Given the description of an element on the screen output the (x, y) to click on. 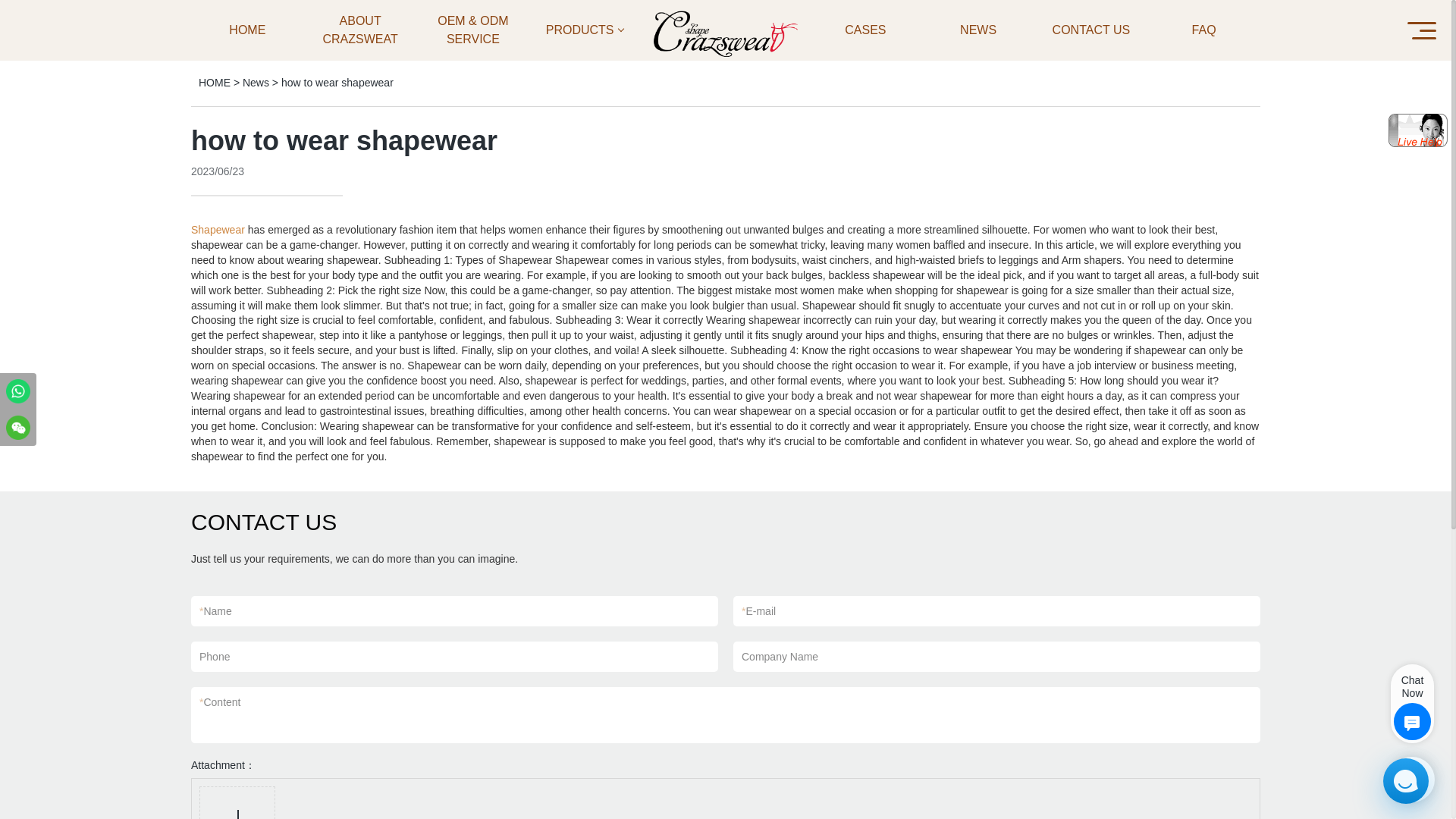
HOME (247, 30)
FAQ (1203, 30)
HOME (214, 82)
ABOUT CRAZSWEAT (359, 30)
Shapewear (217, 229)
Shapewear (217, 229)
NEWS (978, 30)
News (256, 82)
CASES (865, 30)
PRODUCTS (585, 30)
